Given the description of an element on the screen output the (x, y) to click on. 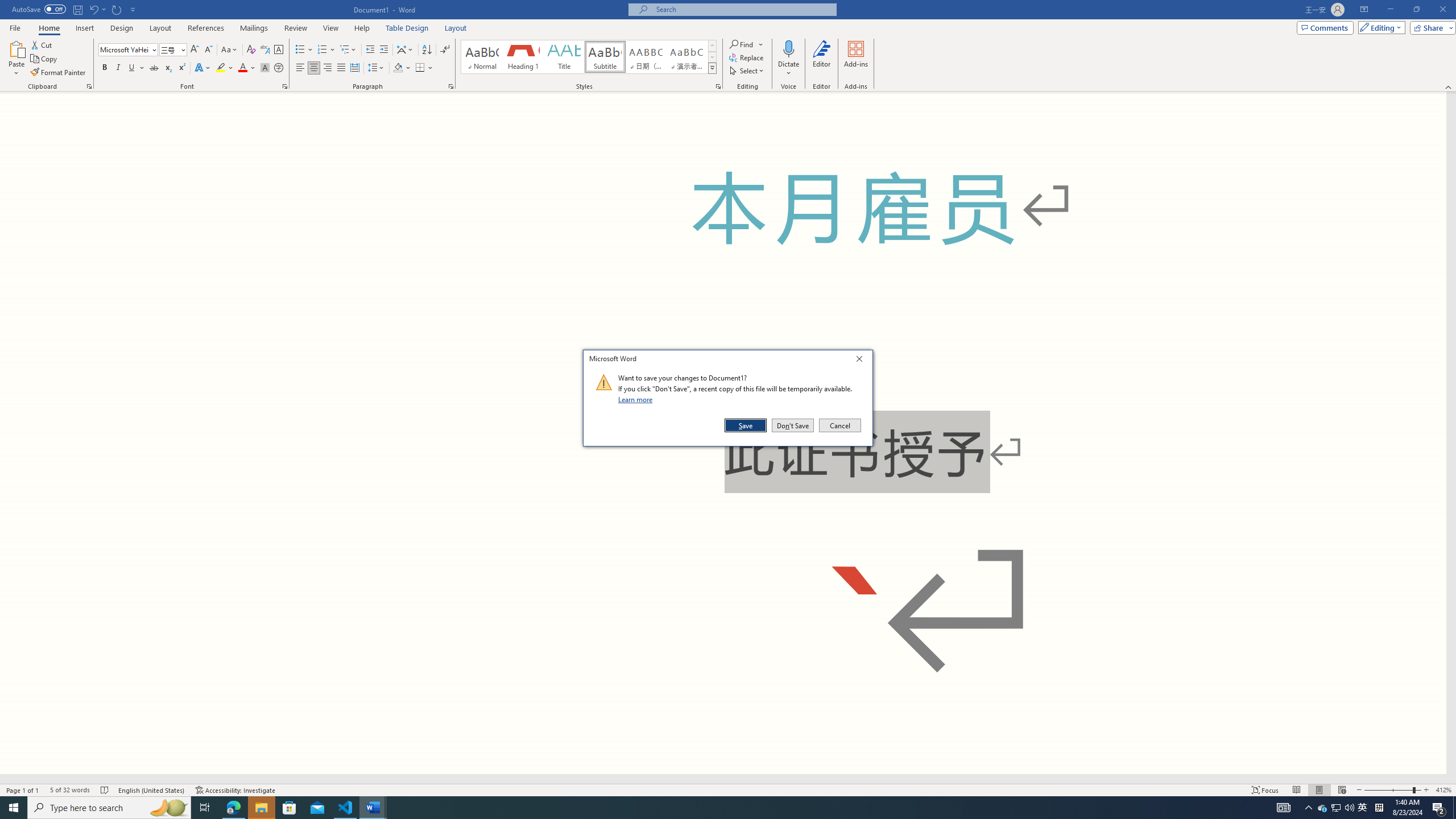
Collapse the Ribbon (1448, 86)
Zoom (1392, 790)
Asian Layout (1322, 807)
Open (405, 49)
Title (182, 49)
Help (564, 56)
Font Color (361, 28)
Running applications (246, 67)
Align Left (700, 807)
Home (300, 67)
More Options (48, 28)
Q2790: 100% (788, 68)
Change Case (1349, 807)
Decrease Indent (229, 49)
